Given the description of an element on the screen output the (x, y) to click on. 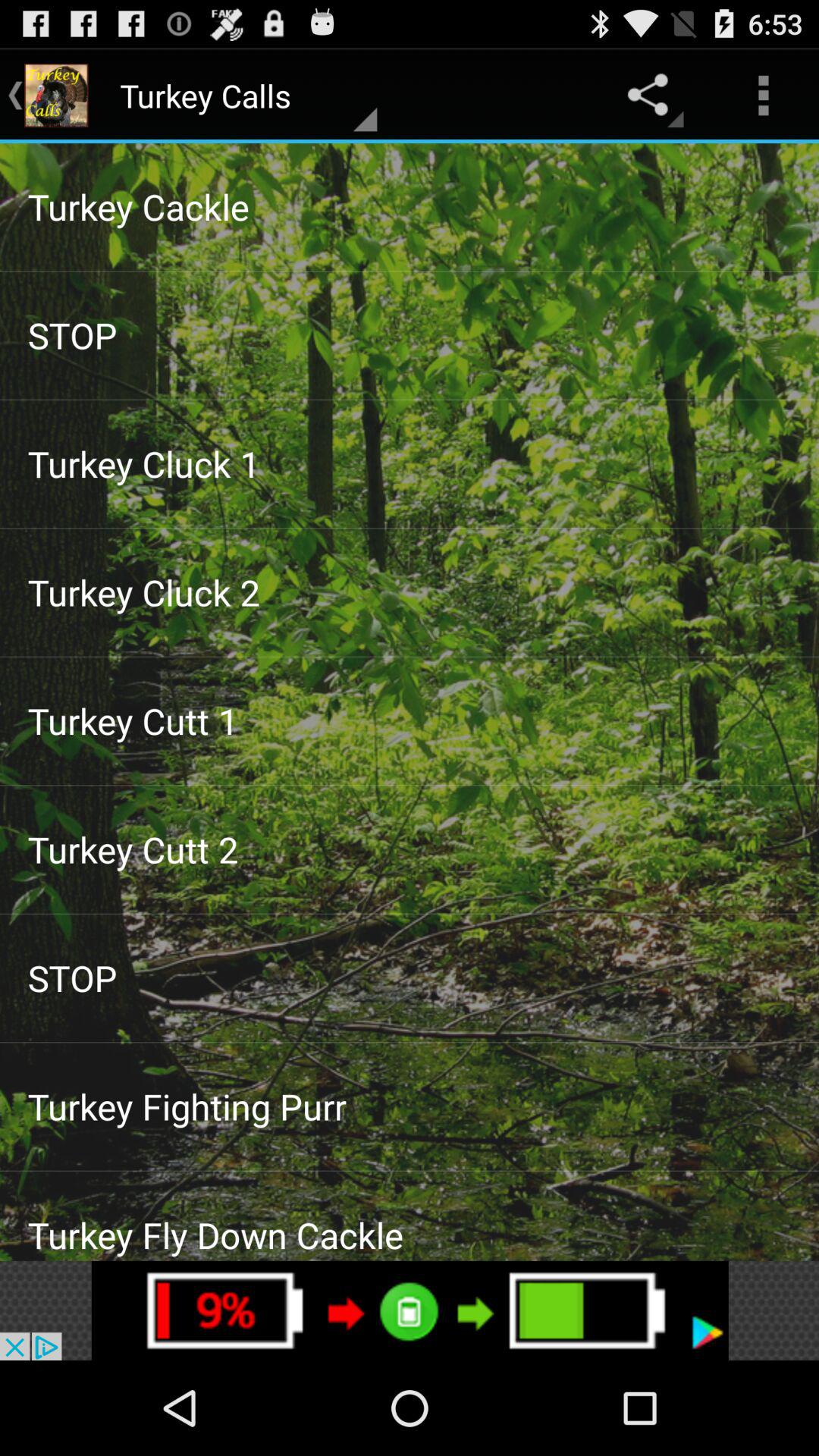
select the image icon on left side of text turkey calls (55, 95)
